Given the description of an element on the screen output the (x, y) to click on. 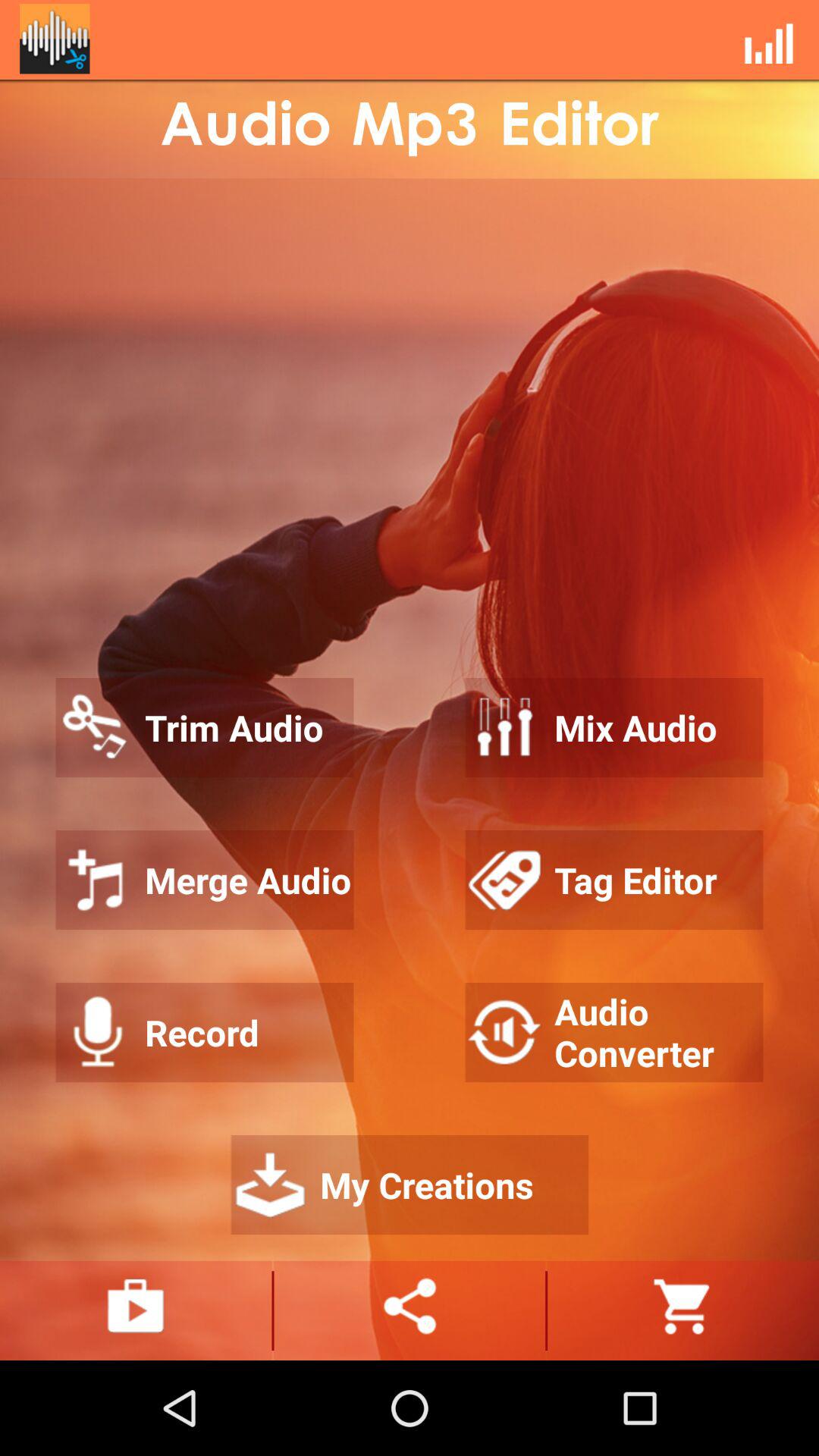
select the second icon for mix audio (504, 727)
